Given the description of an element on the screen output the (x, y) to click on. 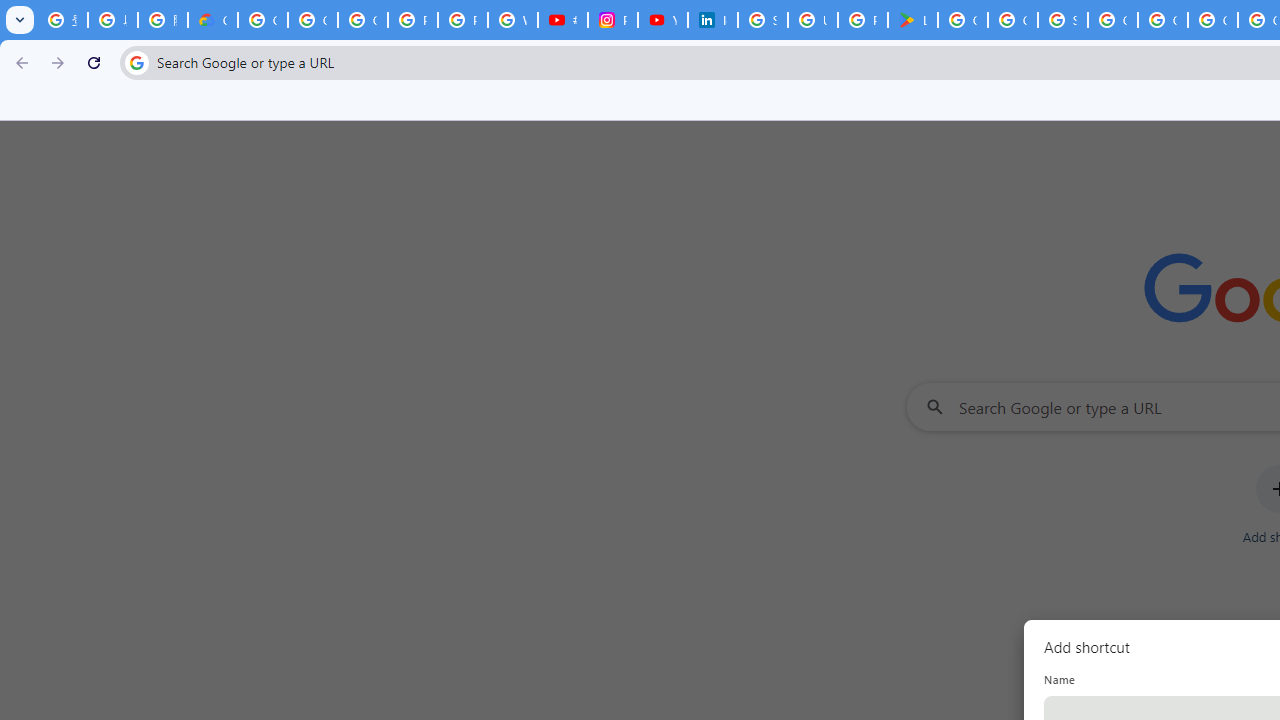
Sign in - Google Accounts (1062, 20)
Google Workspace - Specific Terms (1013, 20)
#nbabasketballhighlights - YouTube (562, 20)
Privacy Help Center - Policies Help (412, 20)
